Given the description of an element on the screen output the (x, y) to click on. 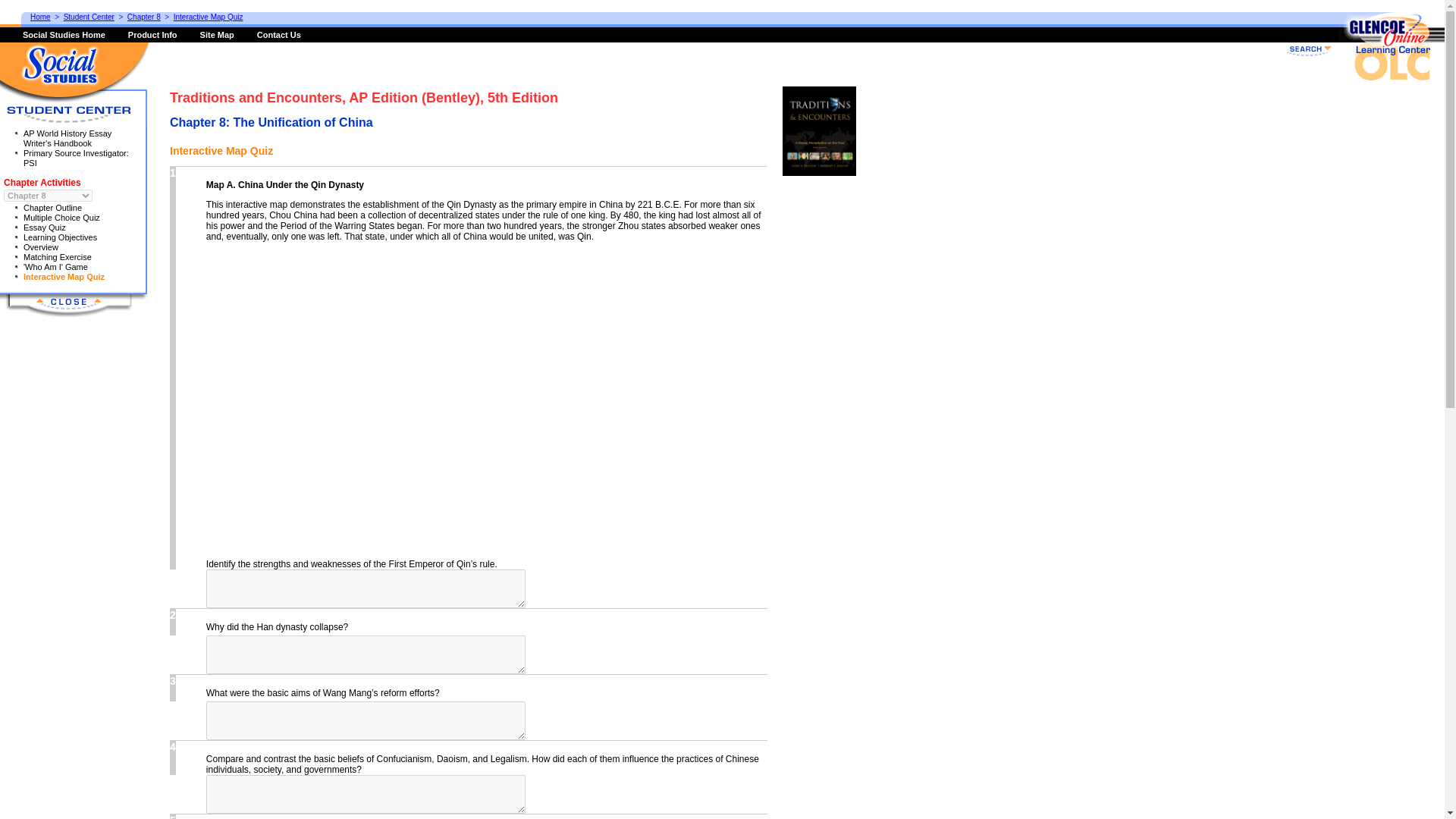
Chapter Outline (52, 207)
Interactive Map Quiz (63, 276)
'Who Am I' Game (55, 266)
Matching Exercise (57, 256)
Multiple Choice Quiz (61, 216)
Essay Quiz (44, 226)
AP World History Essay Writer's Handbook (67, 138)
Overview (40, 246)
Primary Source Investigator: PSI (76, 157)
Learning Objectives (60, 236)
